Given the description of an element on the screen output the (x, y) to click on. 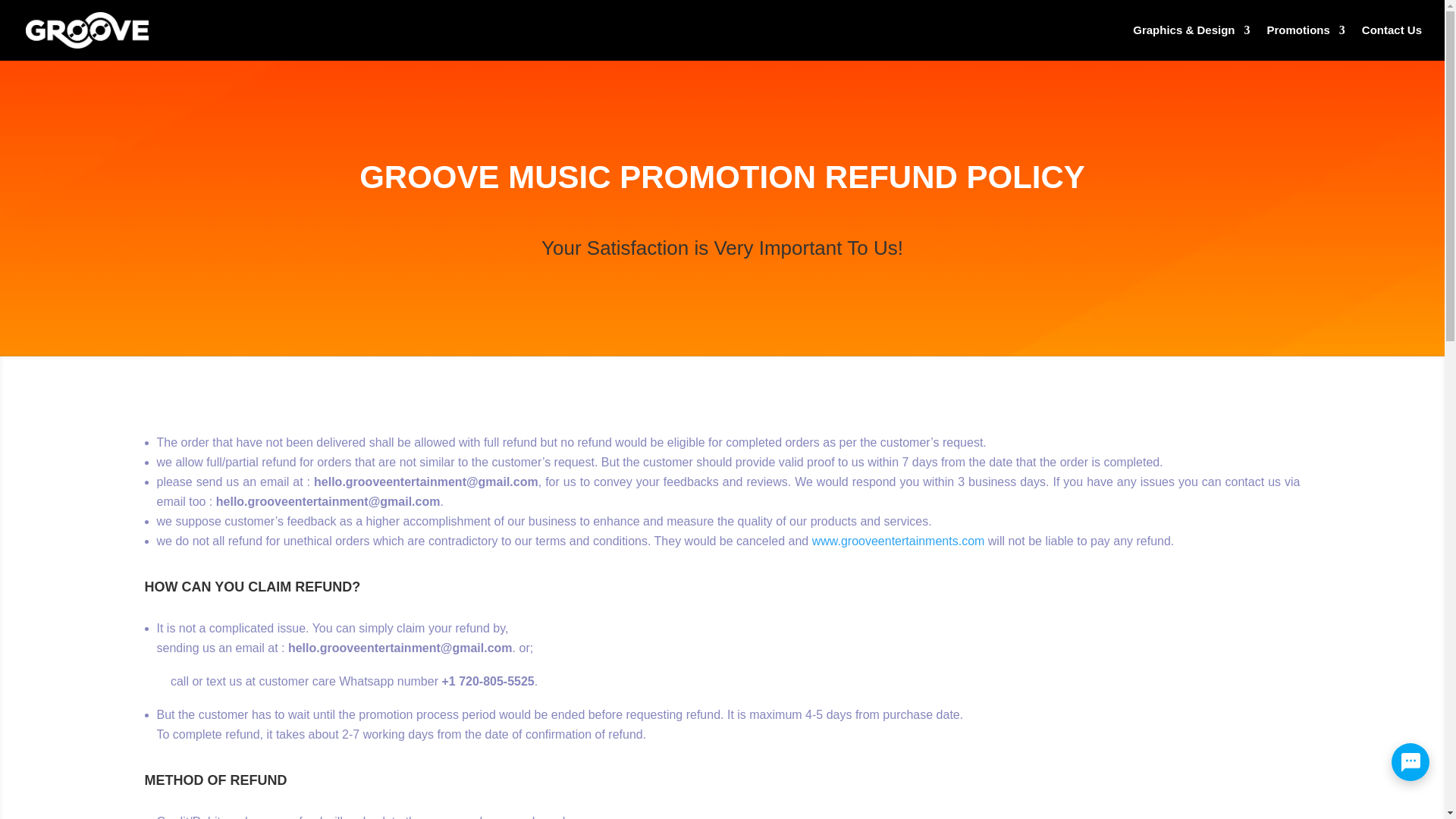
Contact Us (1391, 42)
Promotions (1304, 42)
